Given the description of an element on the screen output the (x, y) to click on. 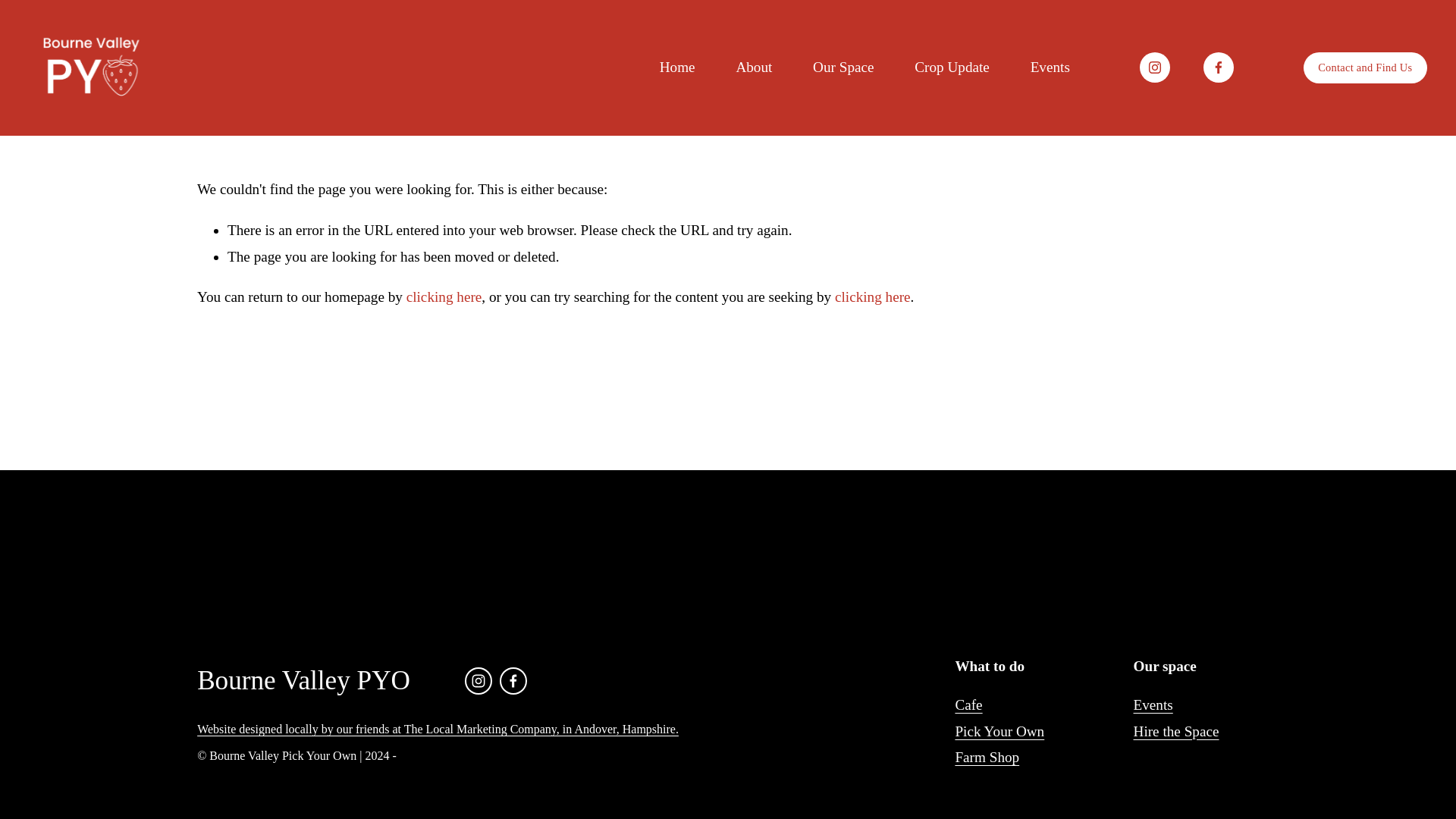
Our Space (842, 67)
Home (677, 67)
Crop Update (952, 67)
Events (1050, 67)
About (753, 67)
Contact and Find Us (1364, 67)
